Given the description of an element on the screen output the (x, y) to click on. 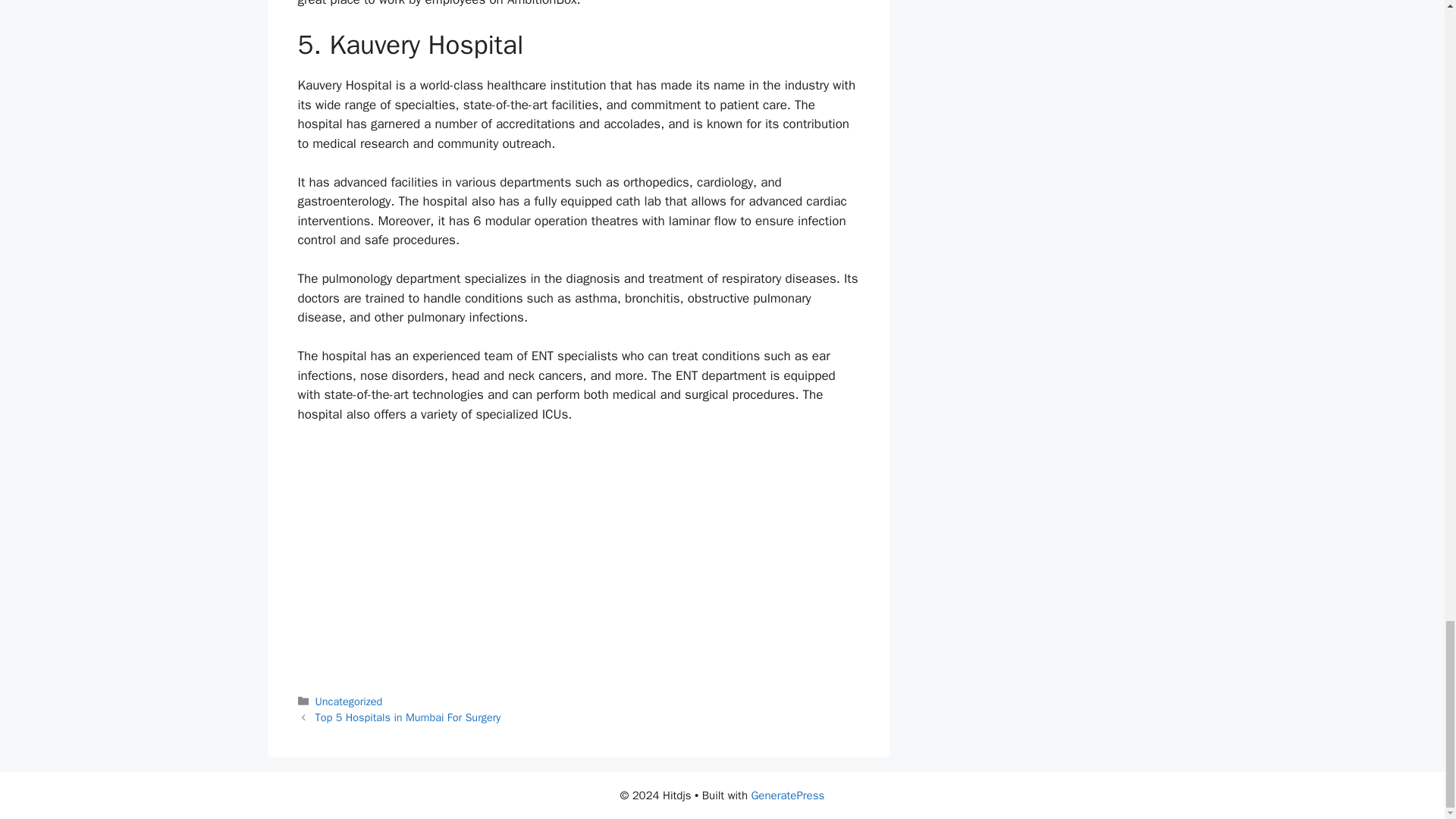
GeneratePress (787, 795)
Uncategorized (348, 701)
Top 5 Hospitals in Mumbai For Surgery (407, 716)
